Given the description of an element on the screen output the (x, y) to click on. 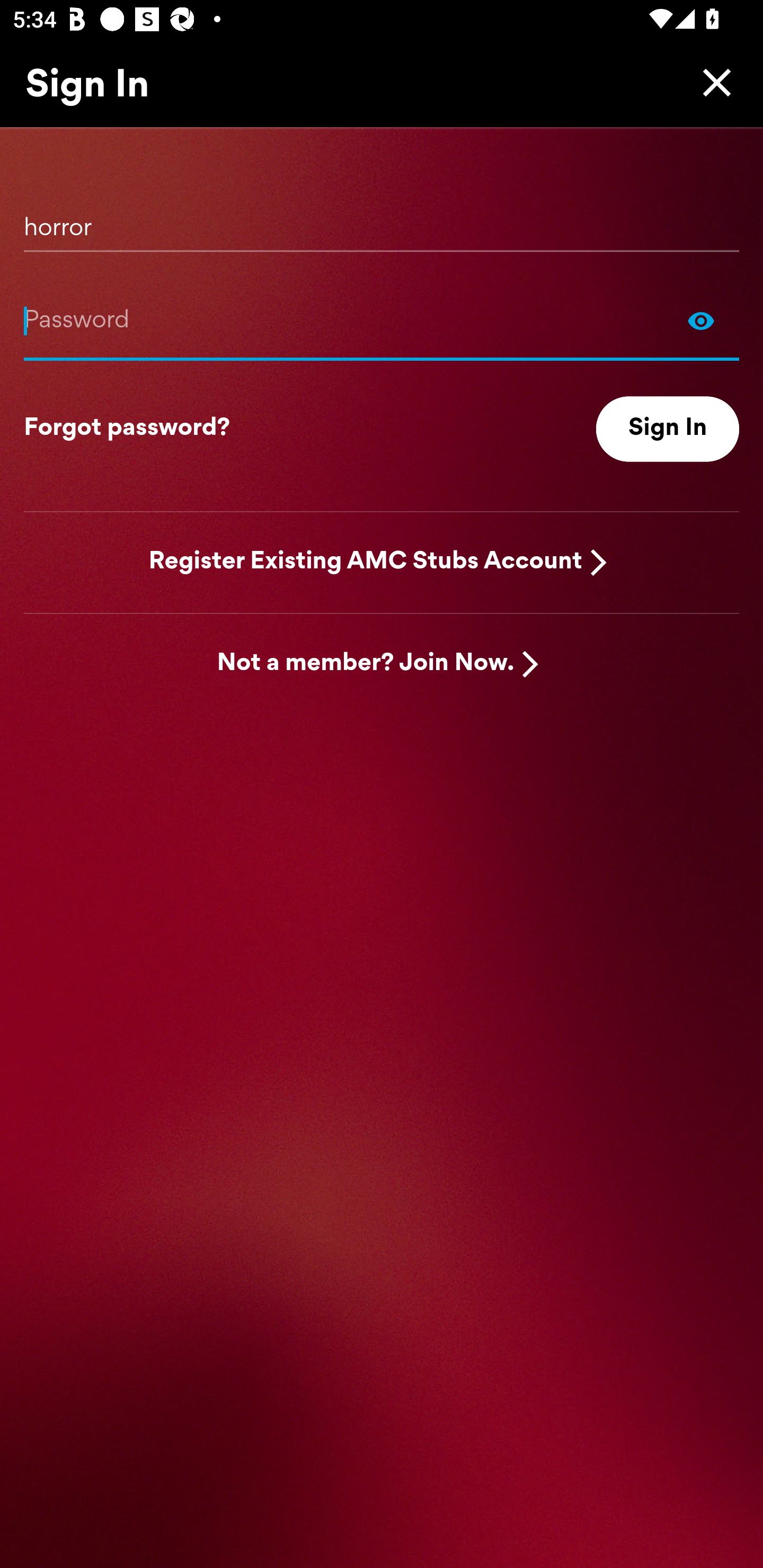
Close (712, 82)
horror (381, 220)
Show Password (381, 320)
Show Password (701, 320)
Forgot password? (126, 428)
Sign In (667, 428)
Register Existing AMC Stubs Account (365, 561)
Not a member? Join Now. (365, 663)
